Given the description of an element on the screen output the (x, y) to click on. 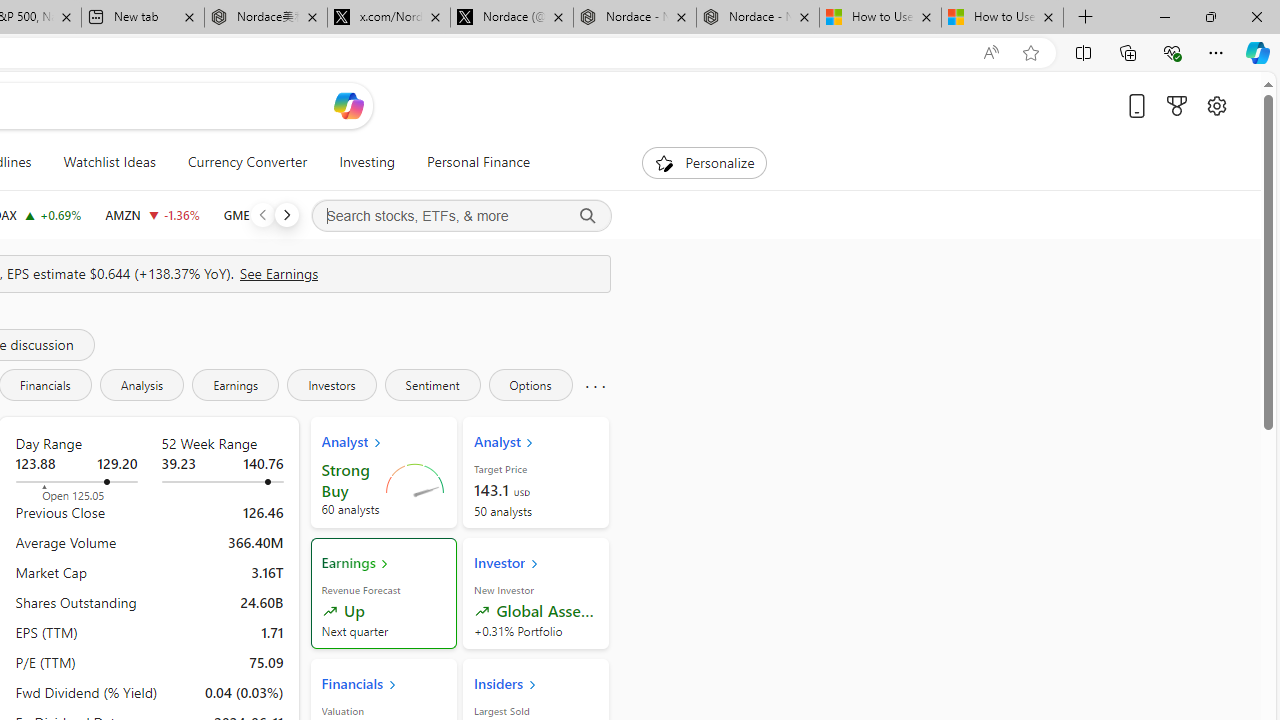
Investors (331, 384)
Nordace (@NordaceOfficial) / X (511, 17)
Currency Converter (247, 162)
Sentiment (432, 384)
Currency Converter (247, 162)
Investing (367, 162)
Open settings (1216, 105)
Investing (367, 162)
Personal Finance (469, 162)
Previous (262, 214)
